Given the description of an element on the screen output the (x, y) to click on. 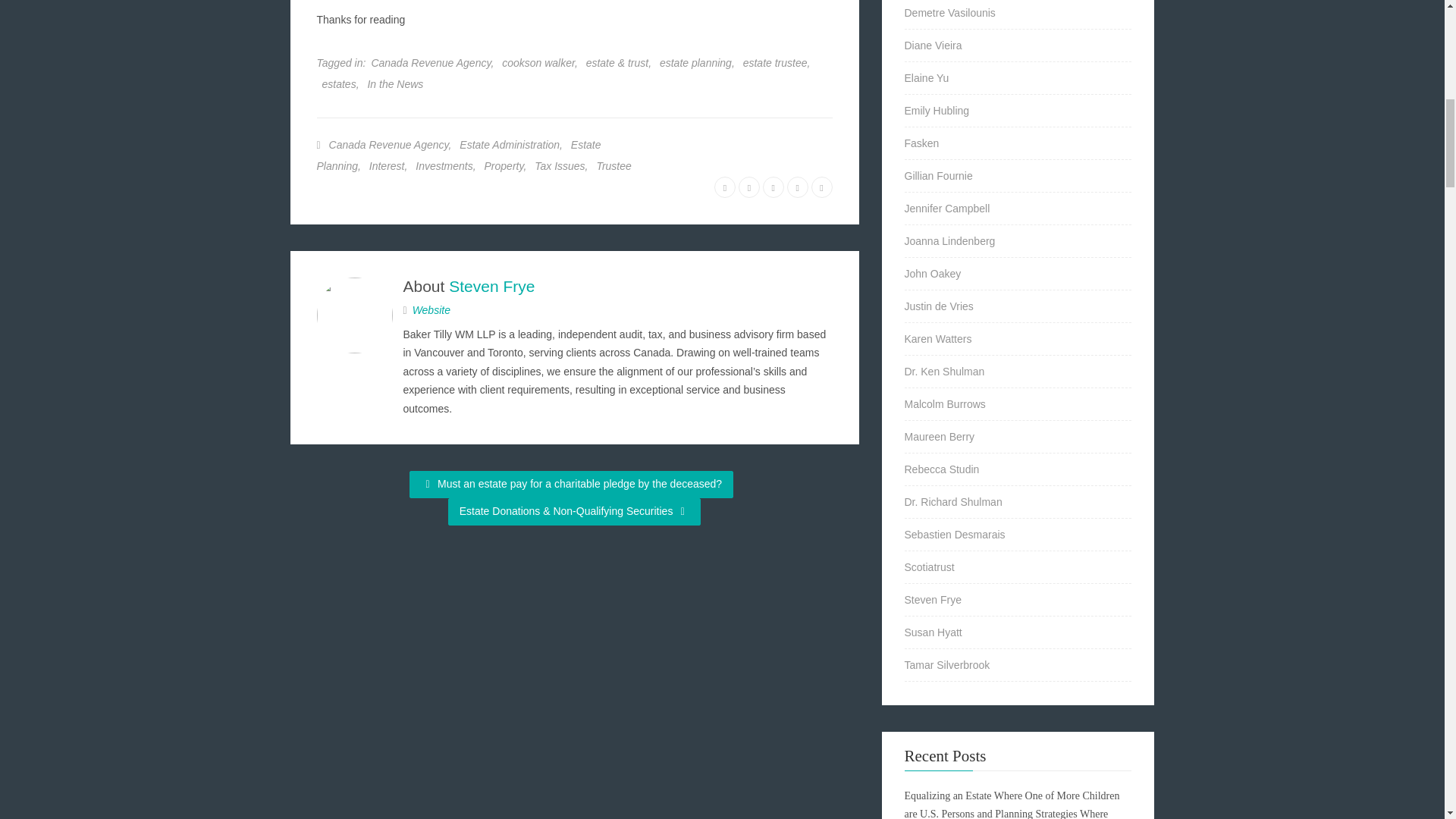
Canada Revenue Agency (388, 143)
Tax Issues (559, 164)
estate trustee (775, 61)
Property (504, 164)
Canada Revenue Agency (430, 61)
Estate Planning (459, 154)
Trustee (612, 164)
Investments (442, 164)
Steven Frye (491, 285)
estate planning (695, 61)
